Given the description of an element on the screen output the (x, y) to click on. 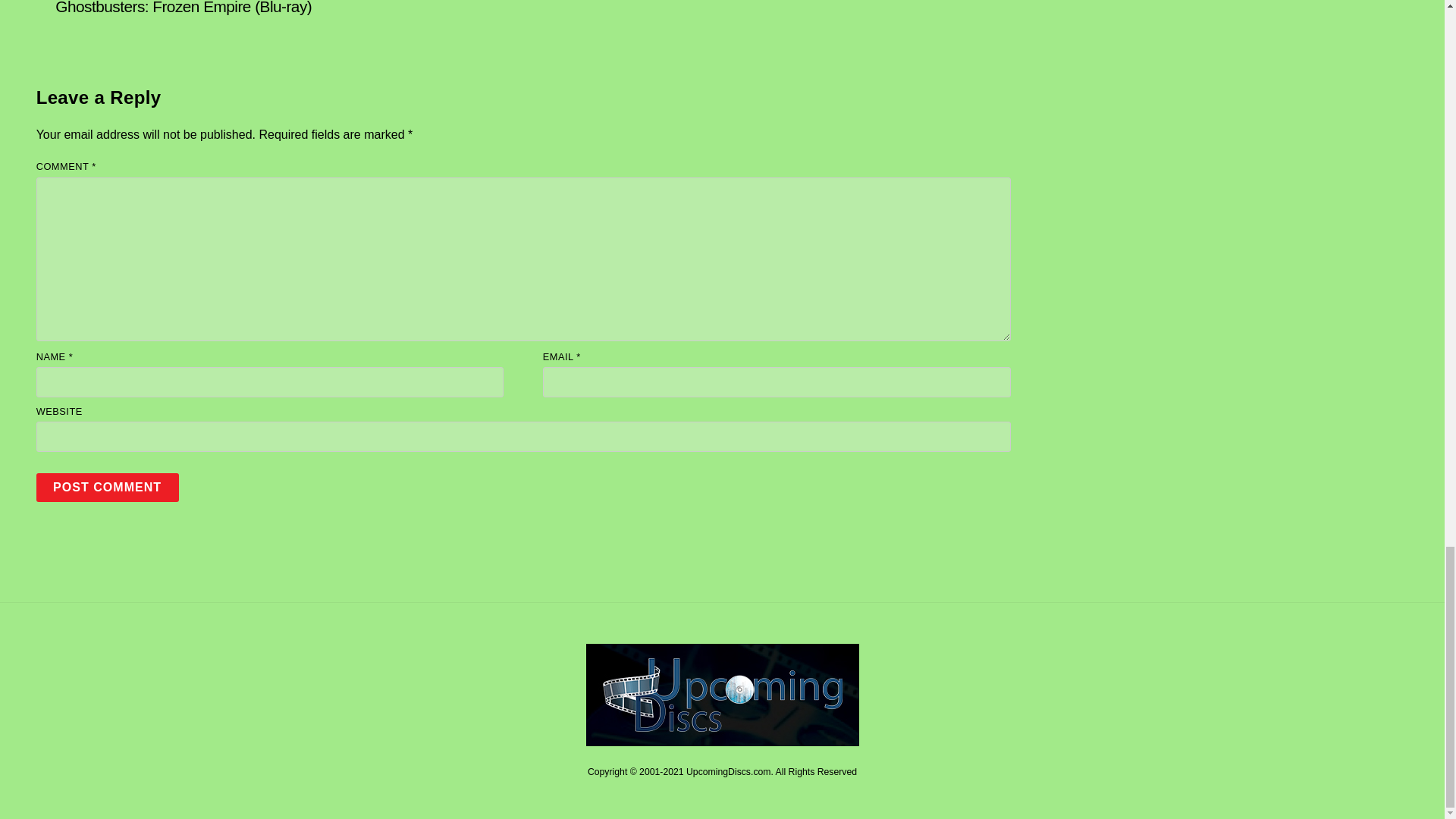
Post Comment (107, 487)
UpcomingDiscs.com (722, 740)
Post Comment (107, 487)
